Given the description of an element on the screen output the (x, y) to click on. 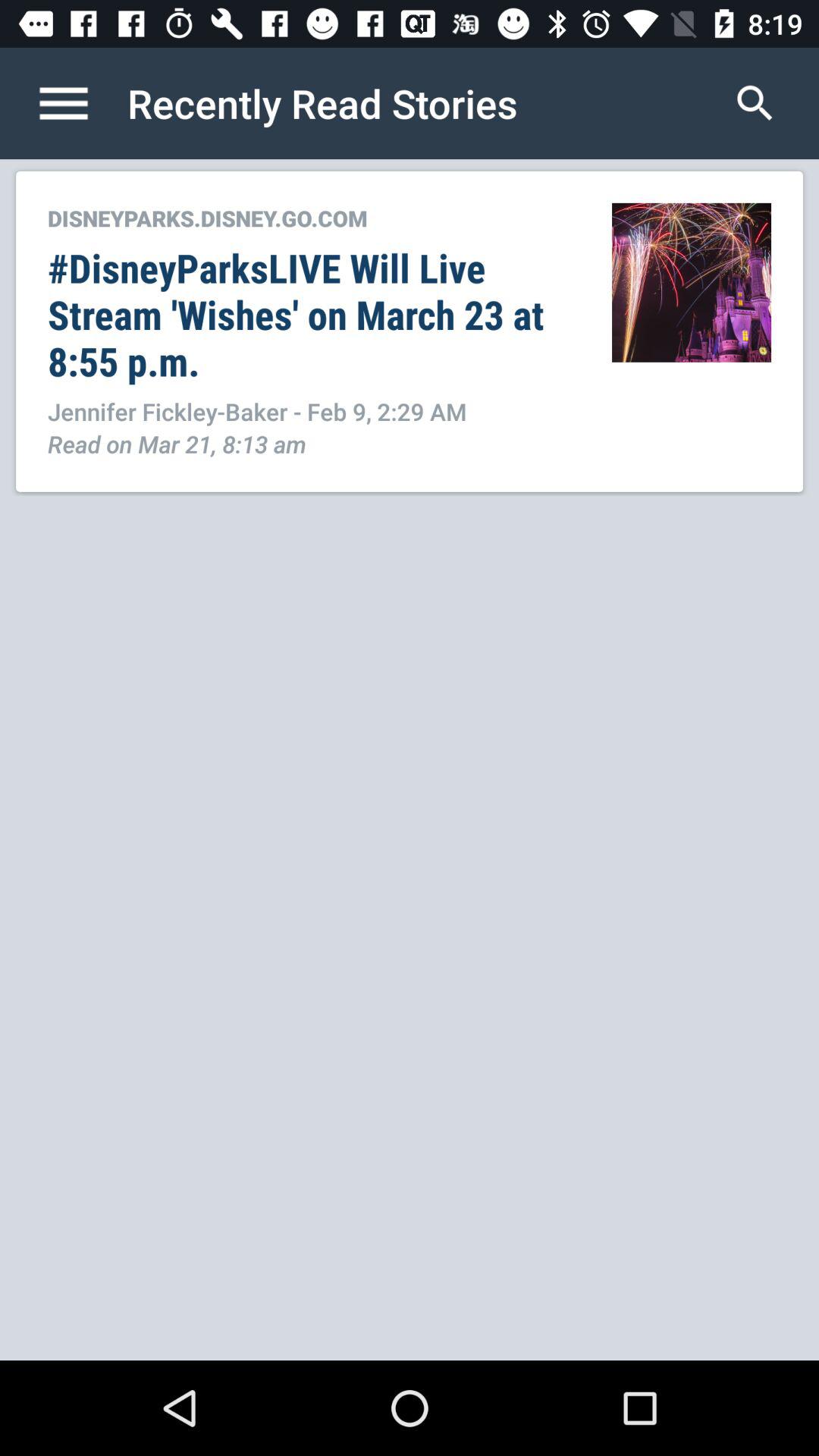
options (79, 103)
